Given the description of an element on the screen output the (x, y) to click on. 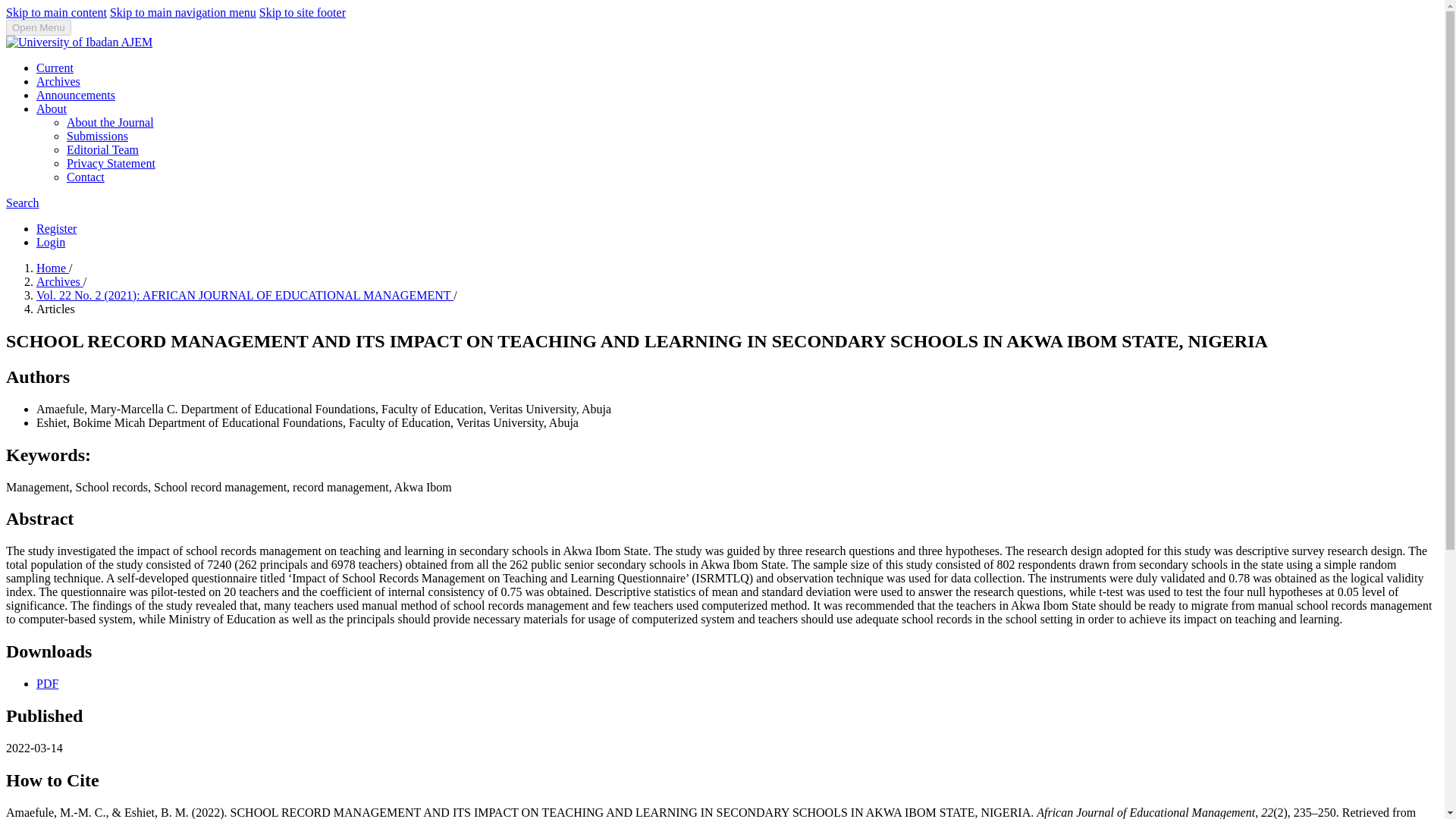
Archives (58, 81)
Editorial Team (102, 149)
Skip to main navigation menu (183, 11)
Open Menu (38, 27)
About (51, 108)
About the Journal (110, 122)
Contact (85, 176)
Login (50, 241)
Current (55, 67)
Search (22, 202)
